Given the description of an element on the screen output the (x, y) to click on. 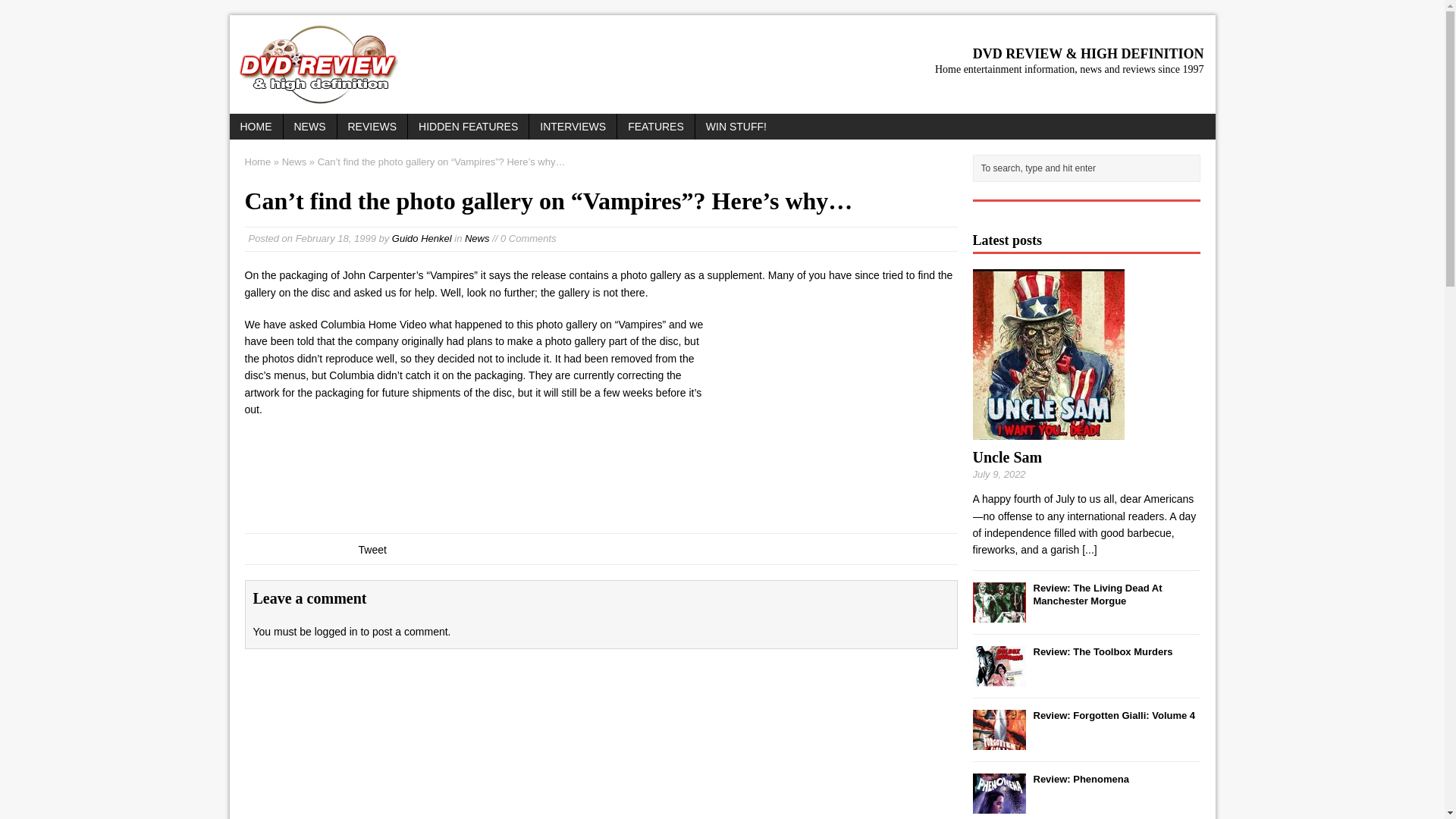
Home (257, 161)
Forgotten Gialli: Volume 4 (998, 740)
Phenomena (998, 804)
Guido Henkel (421, 238)
Tweet (371, 549)
Forgotten Gialli: Volume 4 (1113, 715)
Uncle Sam (1048, 431)
INTERVIEWS (572, 126)
FEATURES (655, 126)
NEWS (309, 126)
Review: Forgotten Gialli: Volume 4 (1113, 715)
News (476, 238)
Review: Phenomena (1080, 778)
Uncle Sam (1007, 457)
Review: The Toolbox Murders (1102, 651)
